Given the description of an element on the screen output the (x, y) to click on. 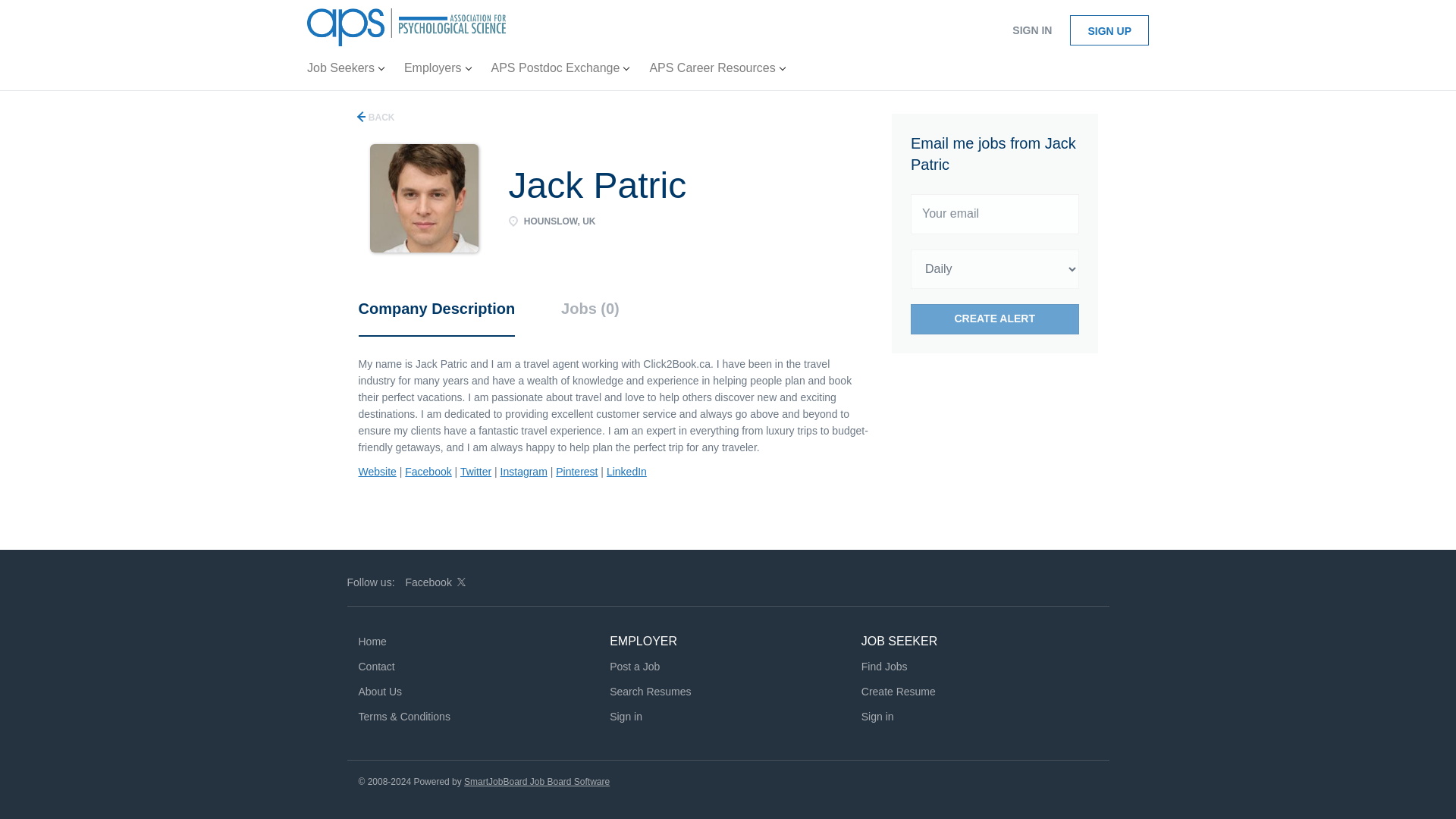
SIGN UP (1109, 30)
Create alert (994, 318)
Employers (437, 71)
Job Seekers (345, 71)
APS Postdoc Exchange (560, 71)
APS Career Resources (717, 71)
Job Board Software, Script (537, 781)
SIGN IN (1031, 30)
